Given the description of an element on the screen output the (x, y) to click on. 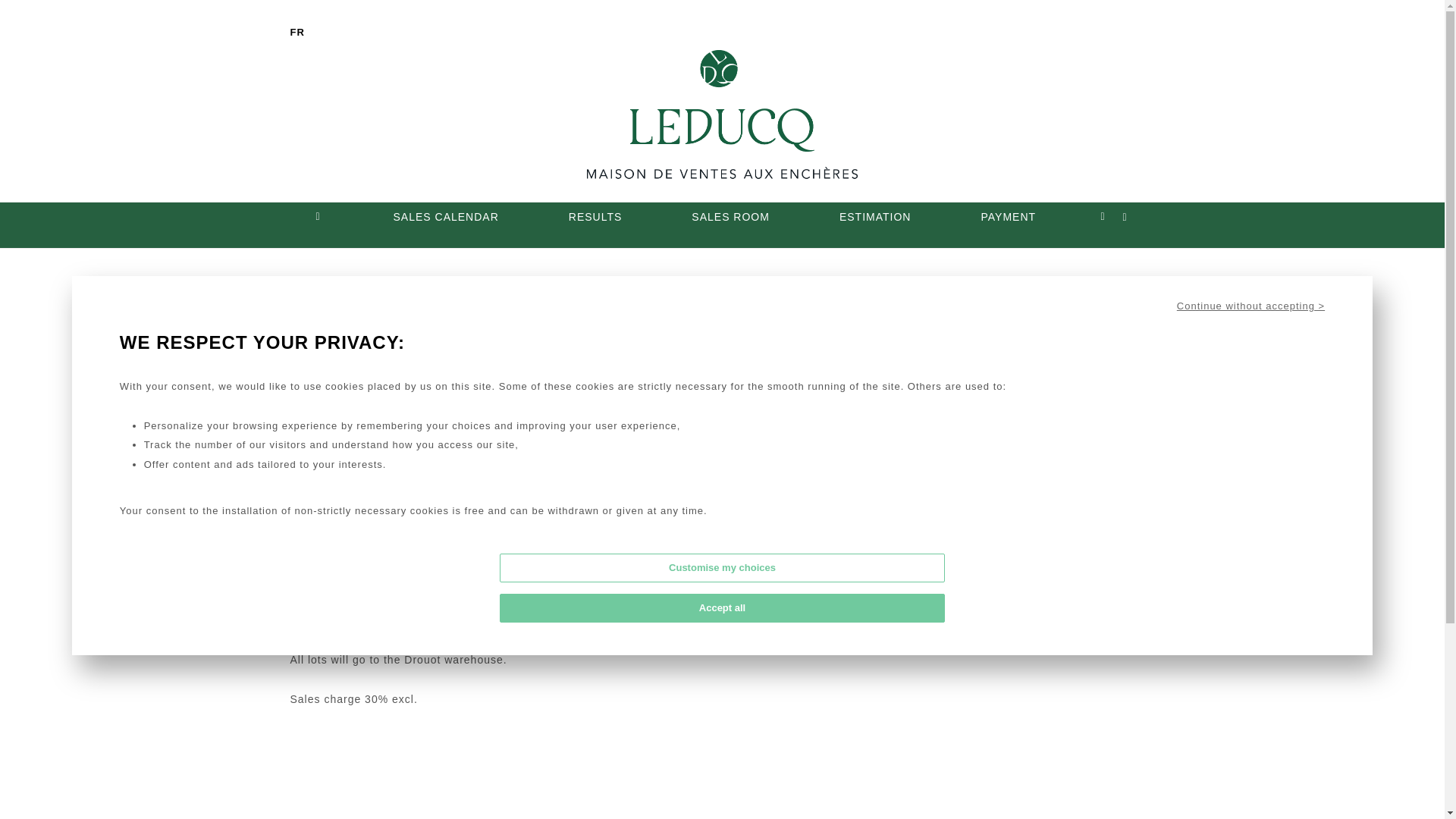
SALES ROOM (730, 221)
Accept all (721, 607)
ESTIMATION (874, 221)
Customise my choices (721, 567)
SALES CALENDAR (445, 221)
DROUOT LIVE (1100, 433)
PAYMENT (1008, 221)
RESULTS (595, 221)
